Given the description of an element on the screen output the (x, y) to click on. 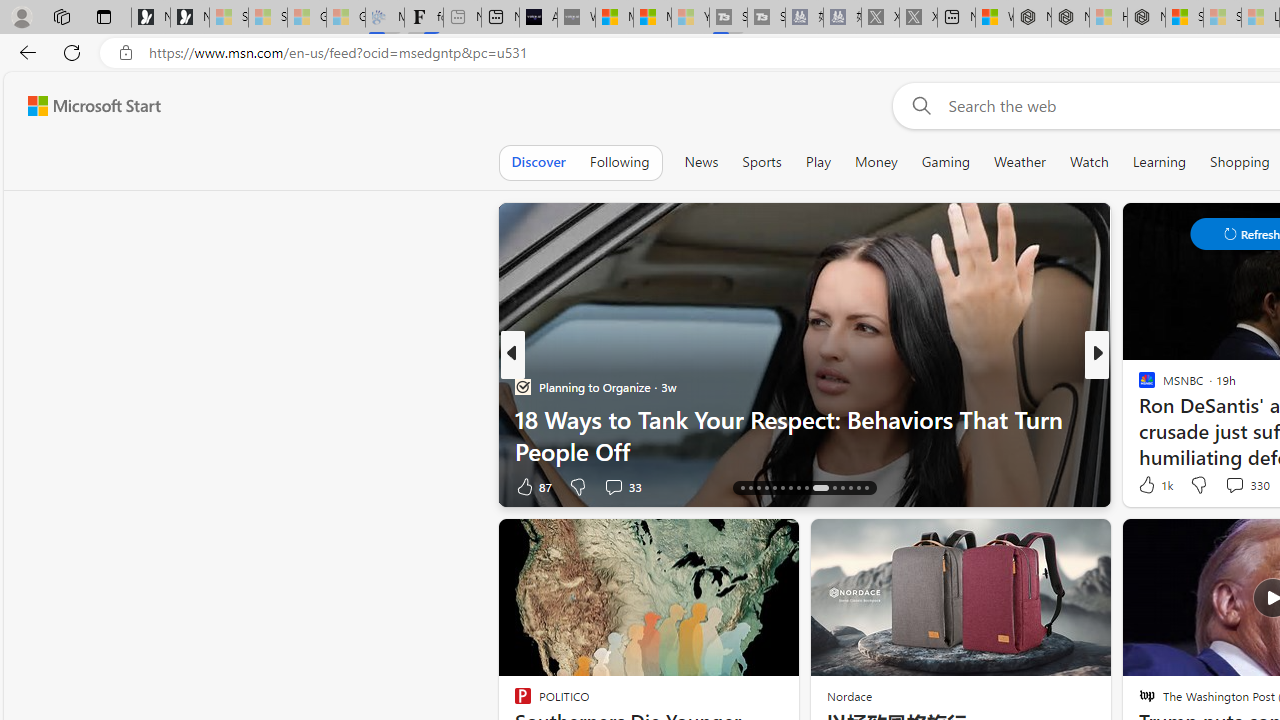
Learning (1159, 161)
AutomationID: tab-21 (782, 487)
AutomationID: tab-18 (757, 487)
See more (774, 542)
AutomationID: tab-17 (750, 487)
Business Insider (1138, 386)
ABC News (1138, 386)
Weather (1020, 161)
This story is trending (449, 490)
X - Sleeping (917, 17)
Play (817, 161)
Gaming (945, 161)
Learning (1159, 162)
